Given the description of an element on the screen output the (x, y) to click on. 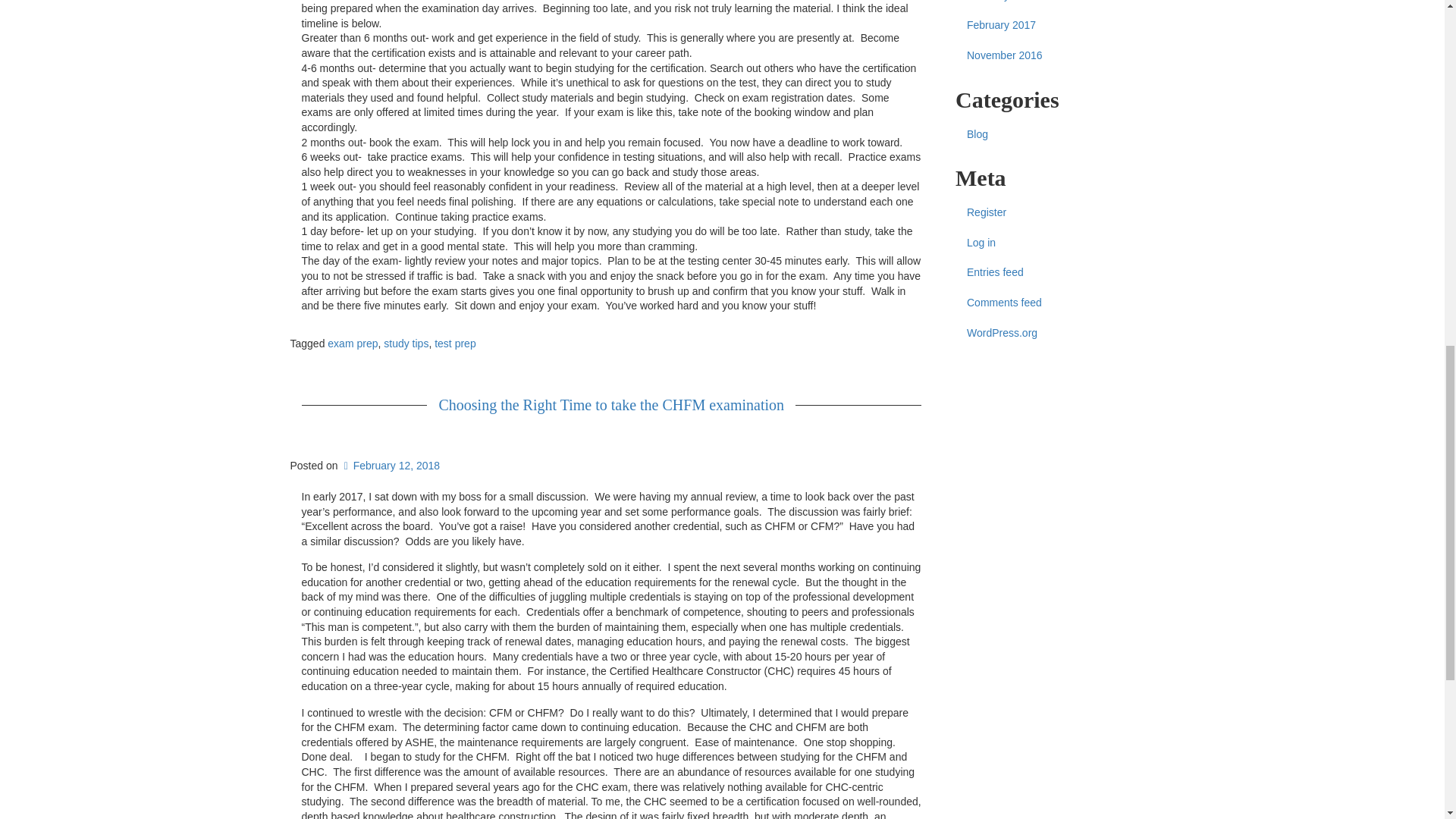
study tips (406, 343)
exam prep (352, 343)
Choosing the Right Time to take the CHFM examination (610, 404)
February 12, 2018 (389, 465)
test prep (454, 343)
